Given the description of an element on the screen output the (x, y) to click on. 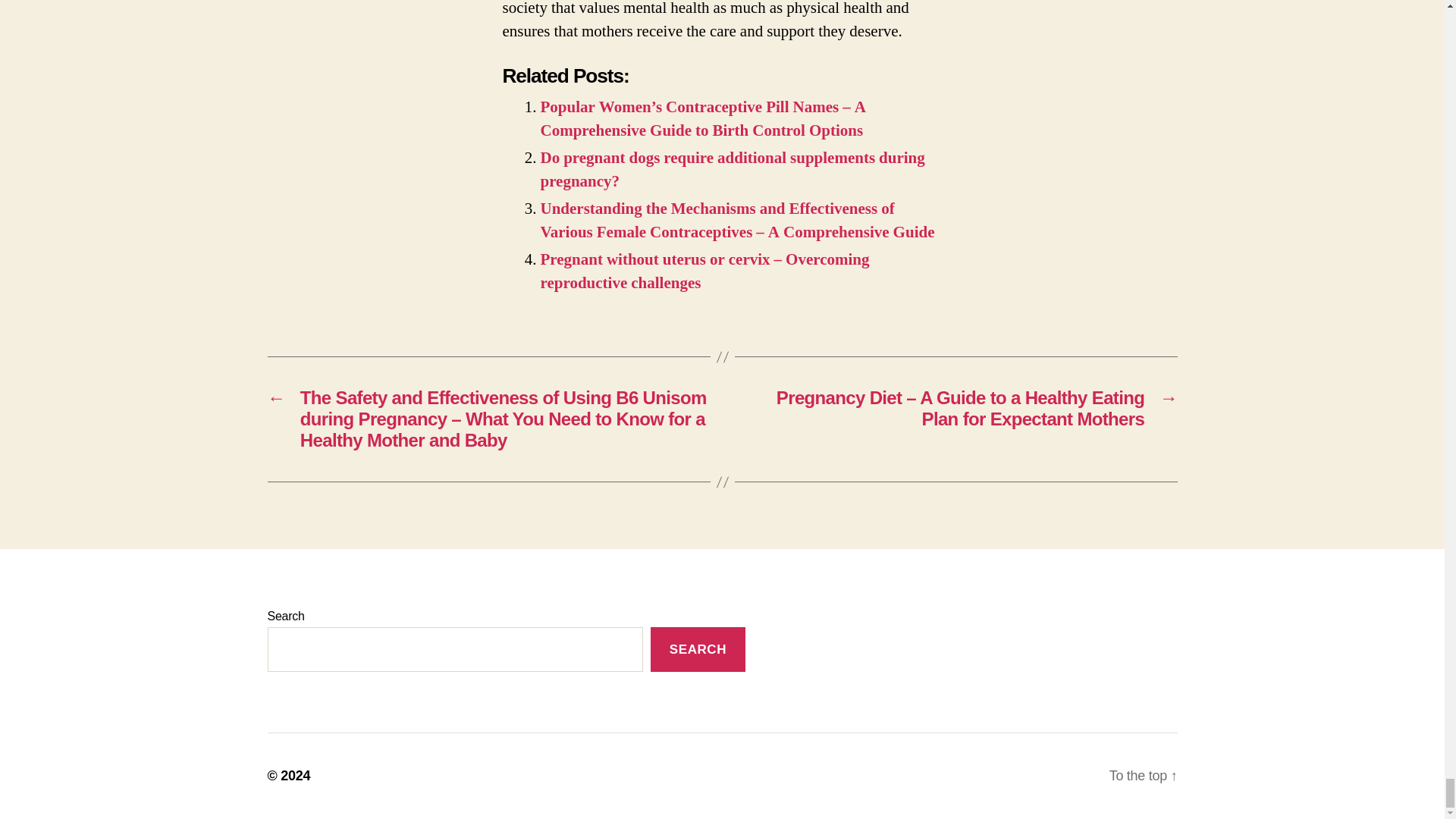
SEARCH (697, 649)
